Given the description of an element on the screen output the (x, y) to click on. 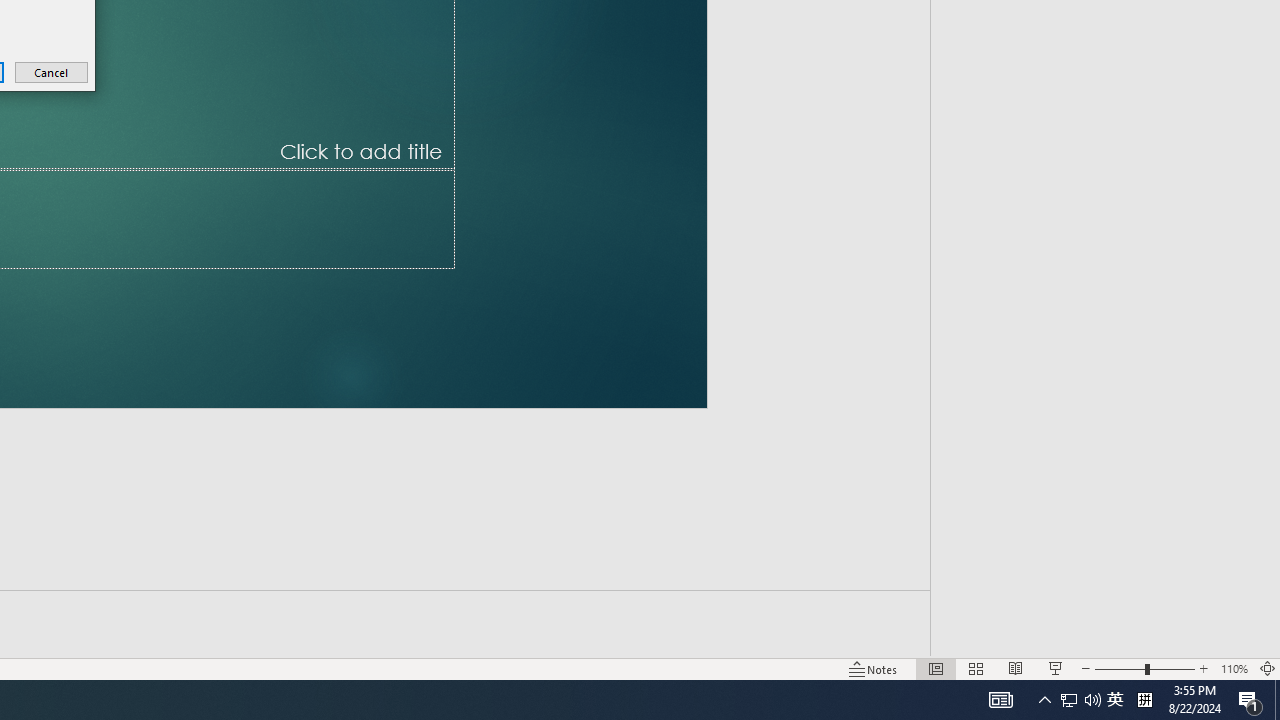
Zoom (1116, 640)
Read Mode (864, 640)
Zoom In (1204, 640)
Class: Image (965, 687)
Zoom Out (1095, 640)
Print Layout (924, 640)
Focus  (786, 640)
Web Layout (984, 640)
Zoom 300% (1249, 640)
